Given the description of an element on the screen output the (x, y) to click on. 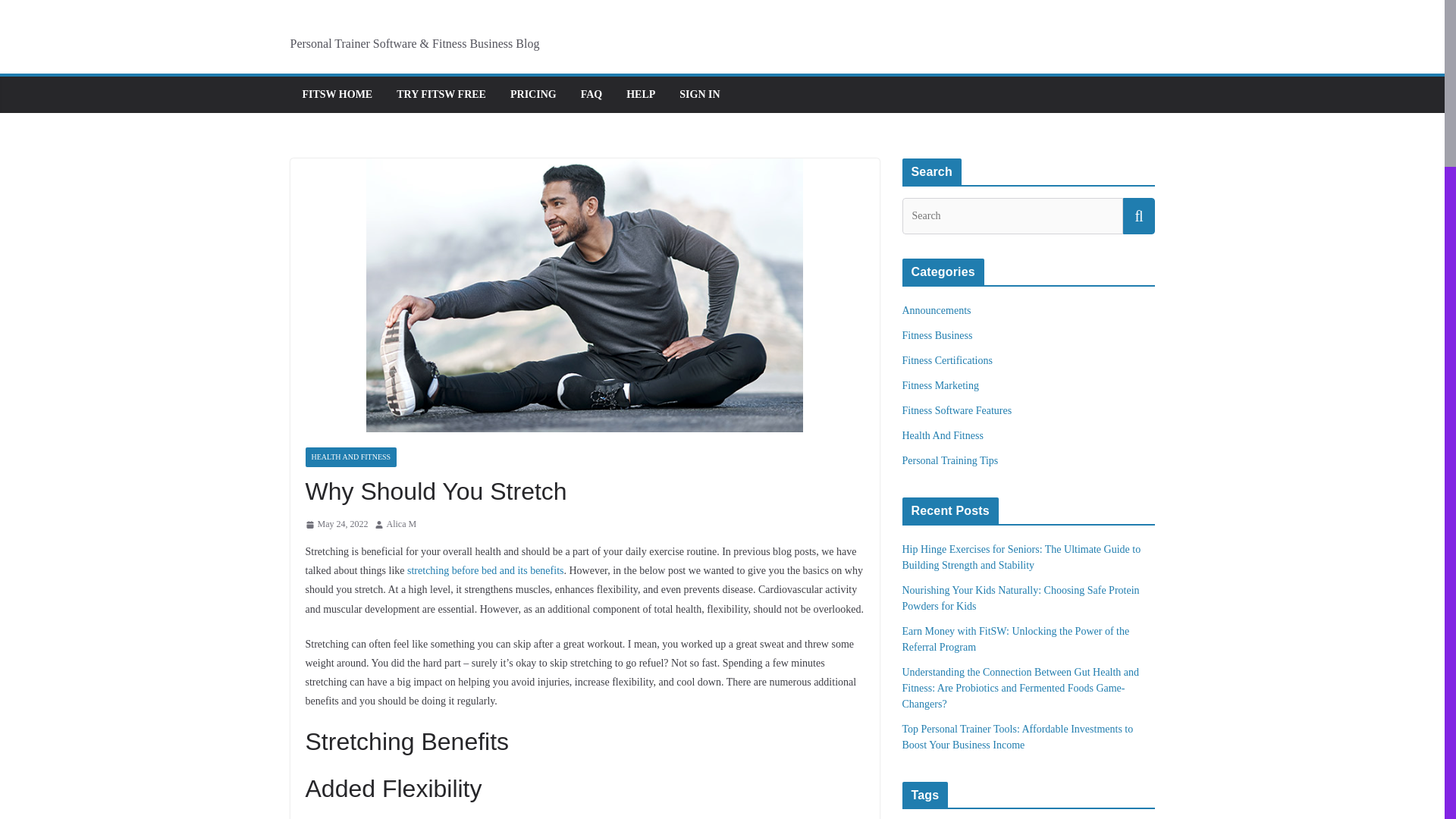
FITSW HOME (336, 94)
Sign In to use Personal Trainer Software (699, 94)
Alica M (401, 524)
Fitness Business (937, 335)
8:18 pm (336, 524)
HELP (640, 94)
May 24, 2022 (336, 524)
Sign Up to start Tracking Fitness Client Progress (441, 94)
stretching before bed and its benefits (485, 570)
